Given the description of an element on the screen output the (x, y) to click on. 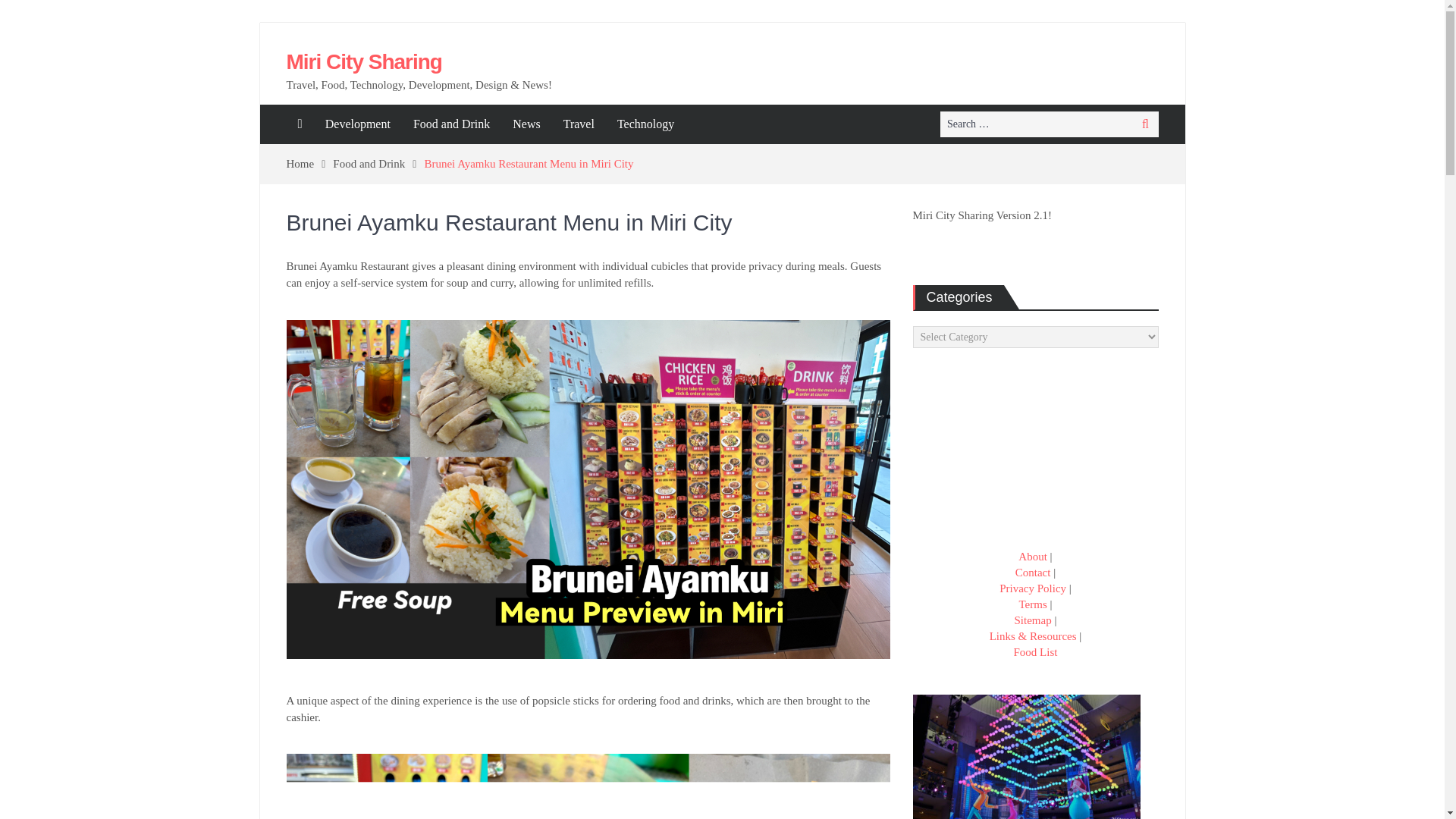
Food and Drink (450, 124)
Contact (1032, 572)
About (1031, 556)
Miri City Sharing (364, 61)
Search (1145, 124)
Food and Drink (378, 163)
Terms (1031, 604)
News (525, 124)
Technology (645, 124)
Home (309, 163)
